Given the description of an element on the screen output the (x, y) to click on. 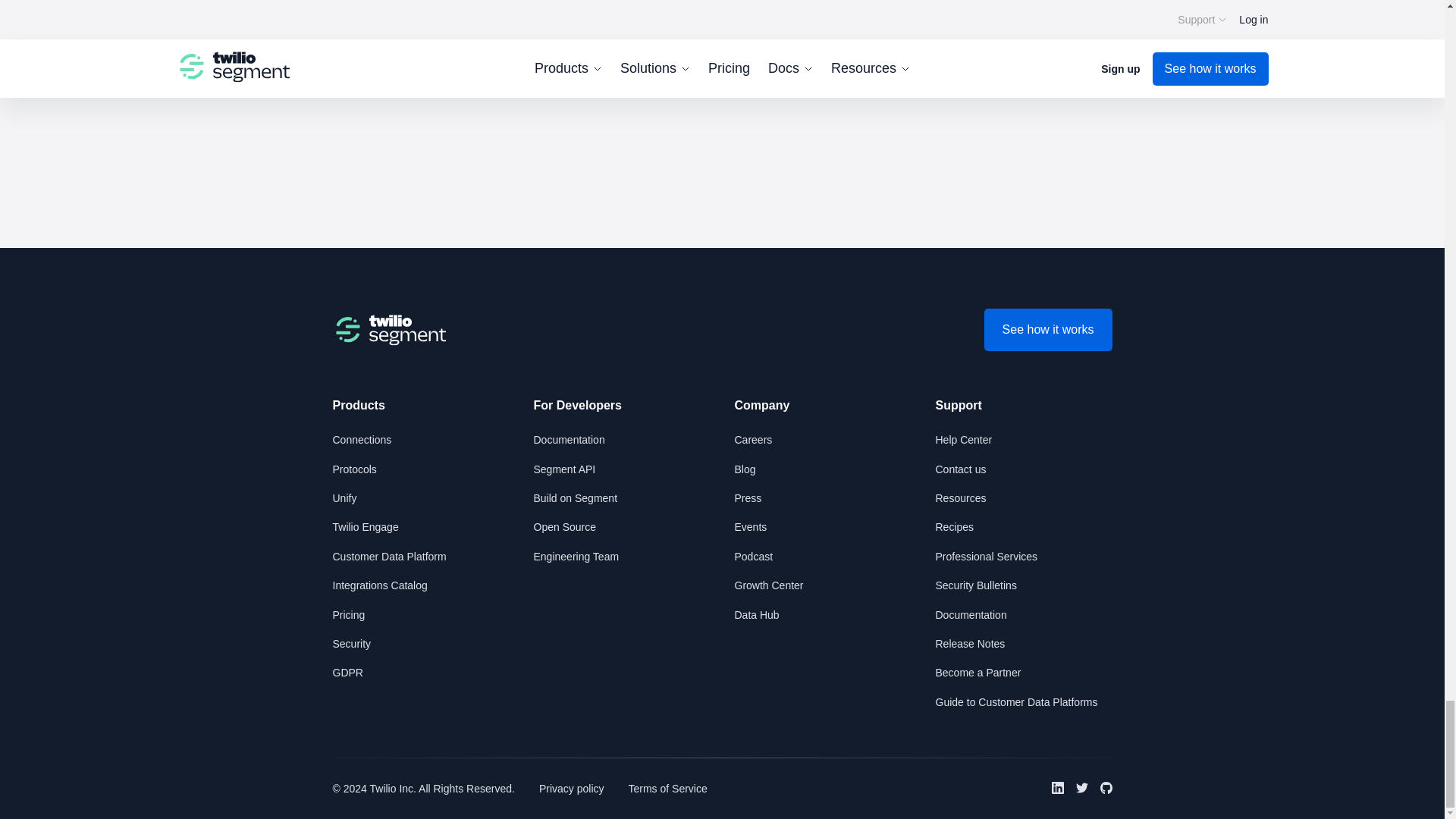
Unify (343, 498)
Integrations Catalog (378, 585)
Customer Data Platform (388, 556)
Twilio Engage (364, 526)
Protocols (353, 469)
Connections (361, 439)
See how it works (1048, 329)
